Given the description of an element on the screen output the (x, y) to click on. 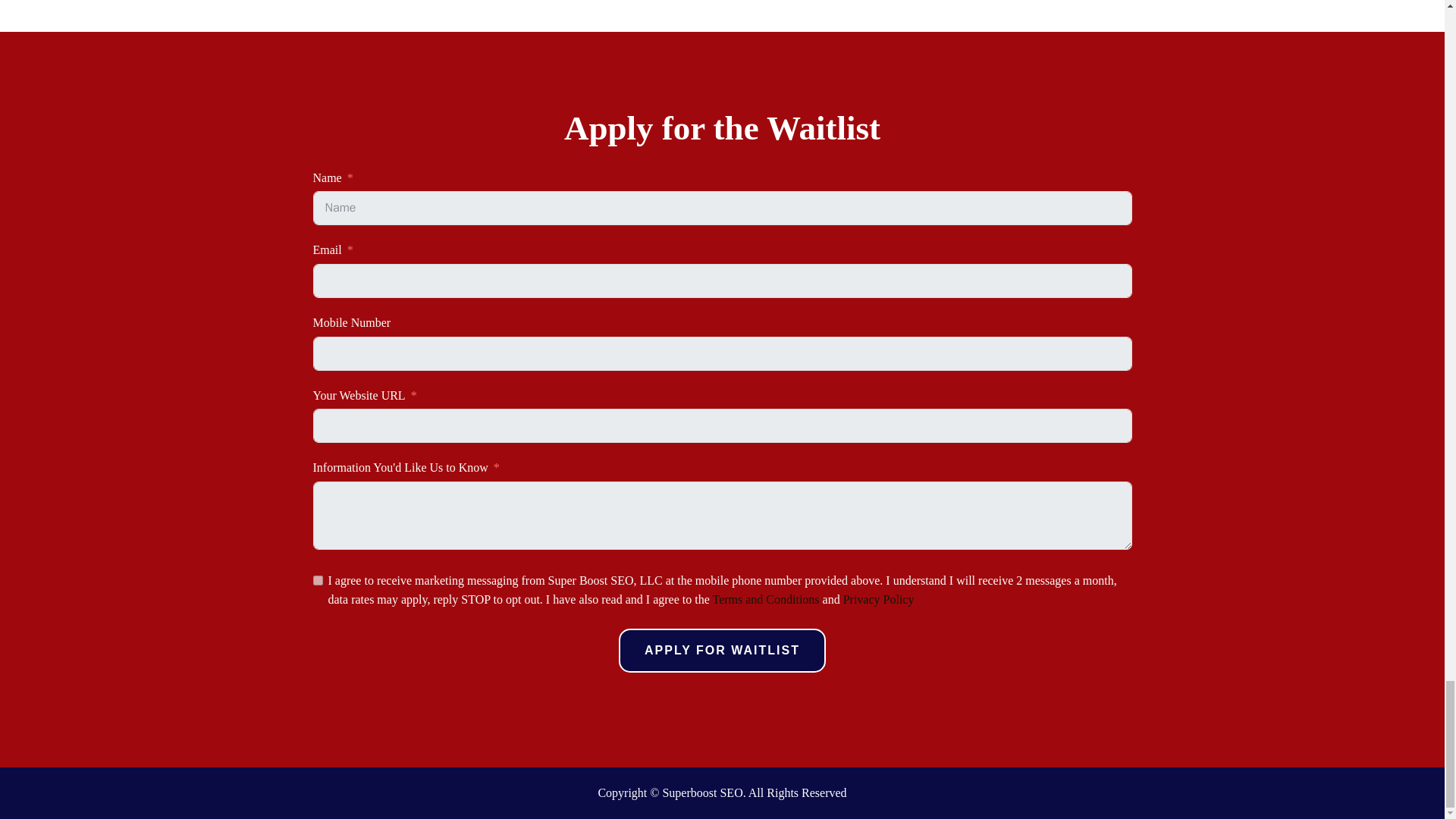
on (317, 580)
Privacy Policy (878, 599)
APPLY FOR WAITLIST (721, 650)
Terms and Conditions (764, 599)
